Given the description of an element on the screen output the (x, y) to click on. 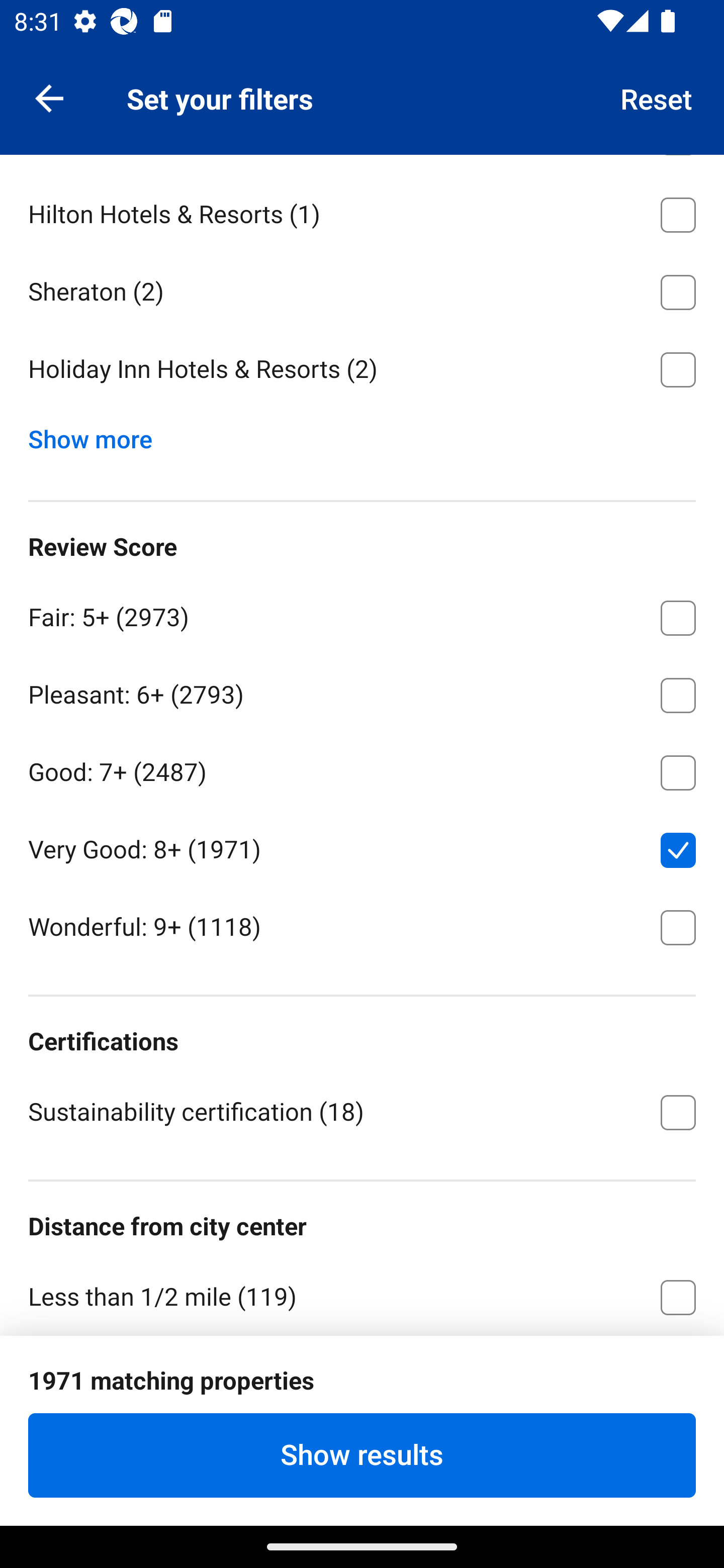
Navigate up (49, 97)
Reset (656, 97)
Hilton Hotels & Resorts ⁦(1) (361, 211)
Sheraton ⁦(2) (361, 288)
Holiday Inn Hotels & Resorts ⁦(2) (361, 369)
Show more (97, 434)
Fair: 5+ ⁦(2973) (361, 614)
Pleasant: 6+ ⁦(2793) (361, 691)
Good: 7+ ⁦(2487) (361, 768)
Very Good: 8+ ⁦(1971) (361, 846)
Wonderful: 9+ ⁦(1118) (361, 925)
Sustainability certification ⁦(18) (361, 1110)
Less than 1/2 mile ⁦(119) (361, 1293)
Show results (361, 1454)
